Given the description of an element on the screen output the (x, y) to click on. 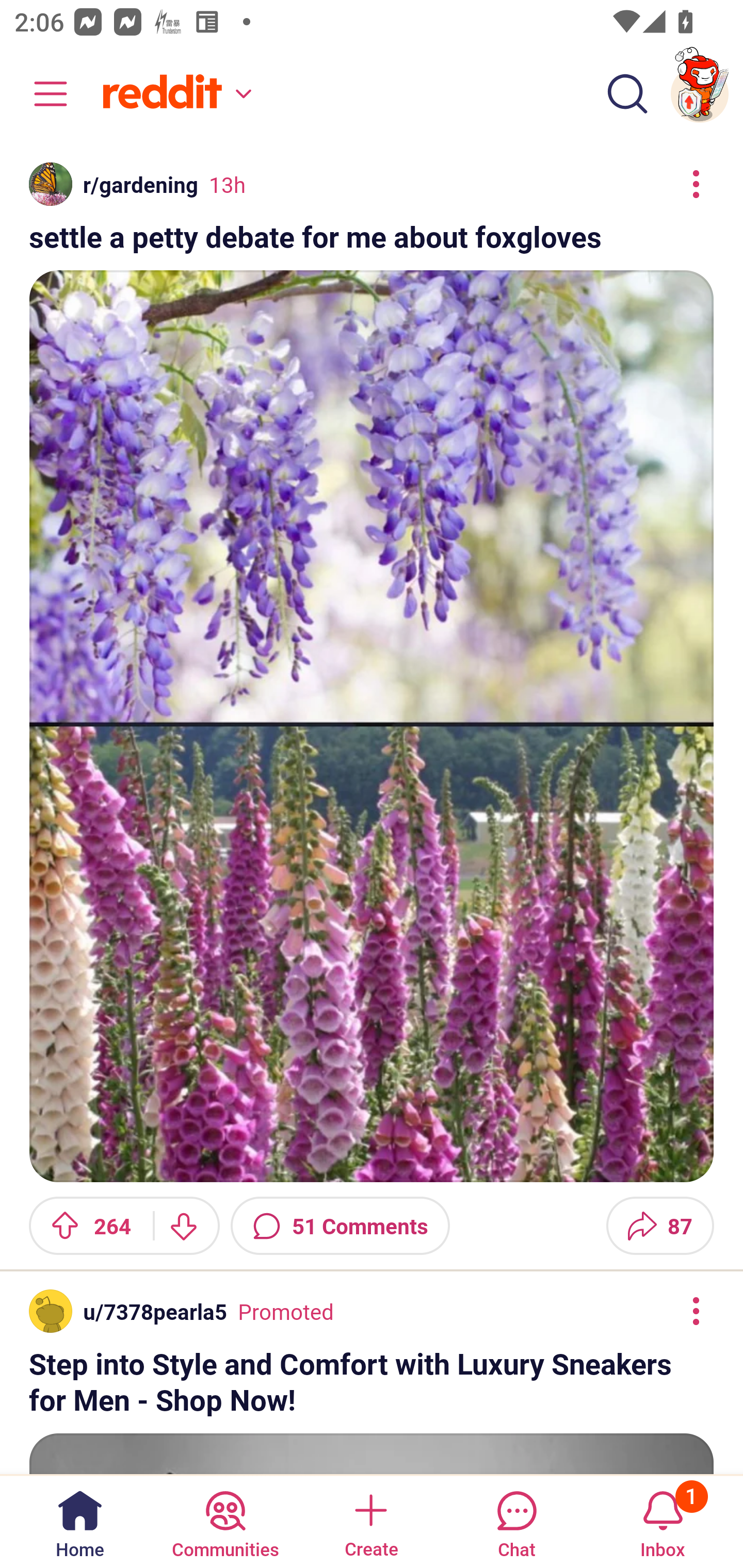
Search (626, 93)
TestAppium002 account (699, 93)
Community menu (41, 94)
Home feed (173, 94)
Home (80, 1520)
Communities (225, 1520)
Create a post Create (370, 1520)
Chat (516, 1520)
Inbox, has 1 notification 1 Inbox (662, 1520)
